Given the description of an element on the screen output the (x, y) to click on. 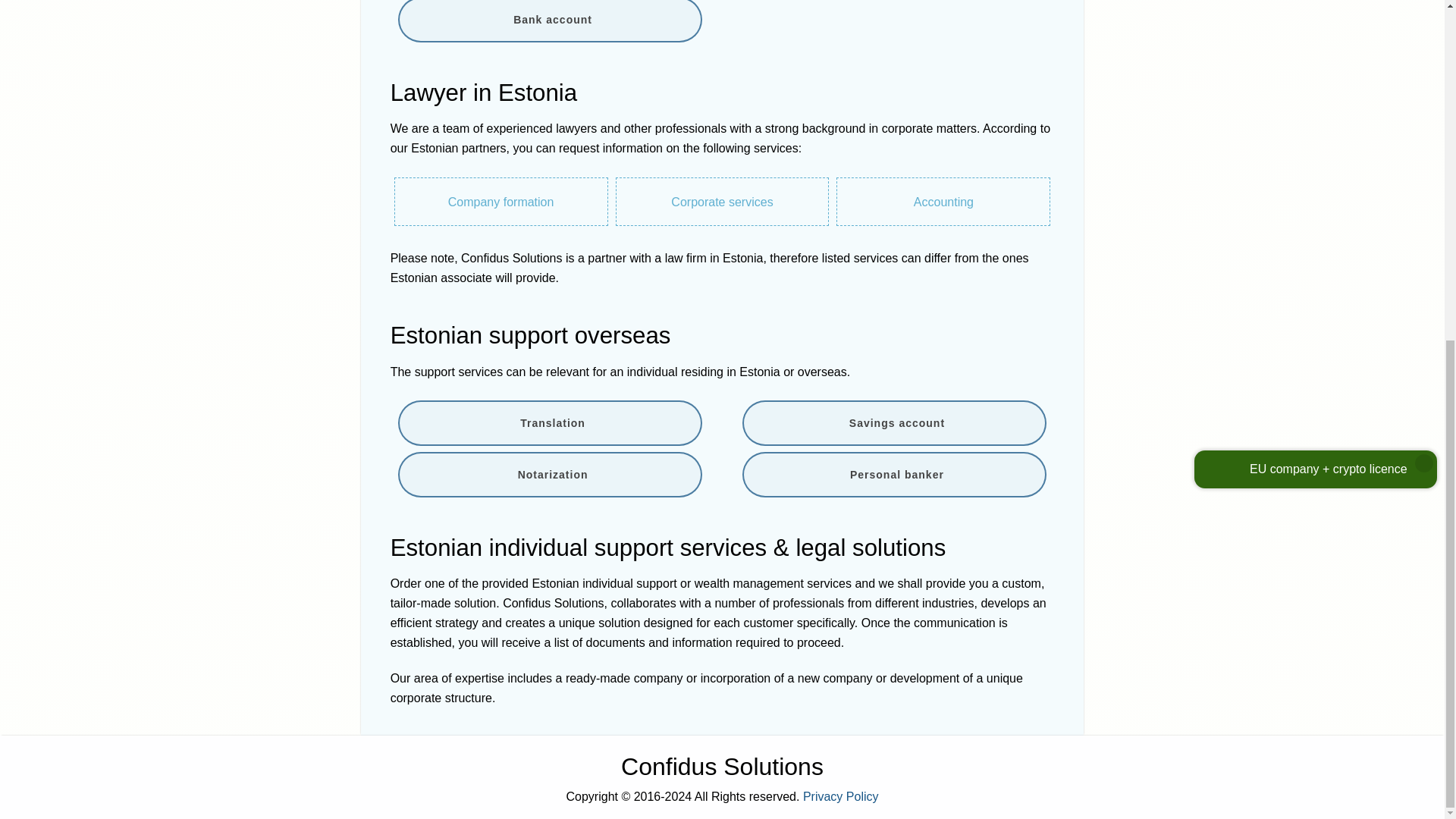
Estonian company forming services (501, 201)
Bank account (549, 21)
Privacy Policy (841, 796)
Savings account (894, 422)
Estonia private bank account (549, 21)
Corporate services (722, 201)
Company formation (501, 201)
Personal banker (894, 474)
Accounting (942, 201)
Notarization (549, 474)
